Given the description of an element on the screen output the (x, y) to click on. 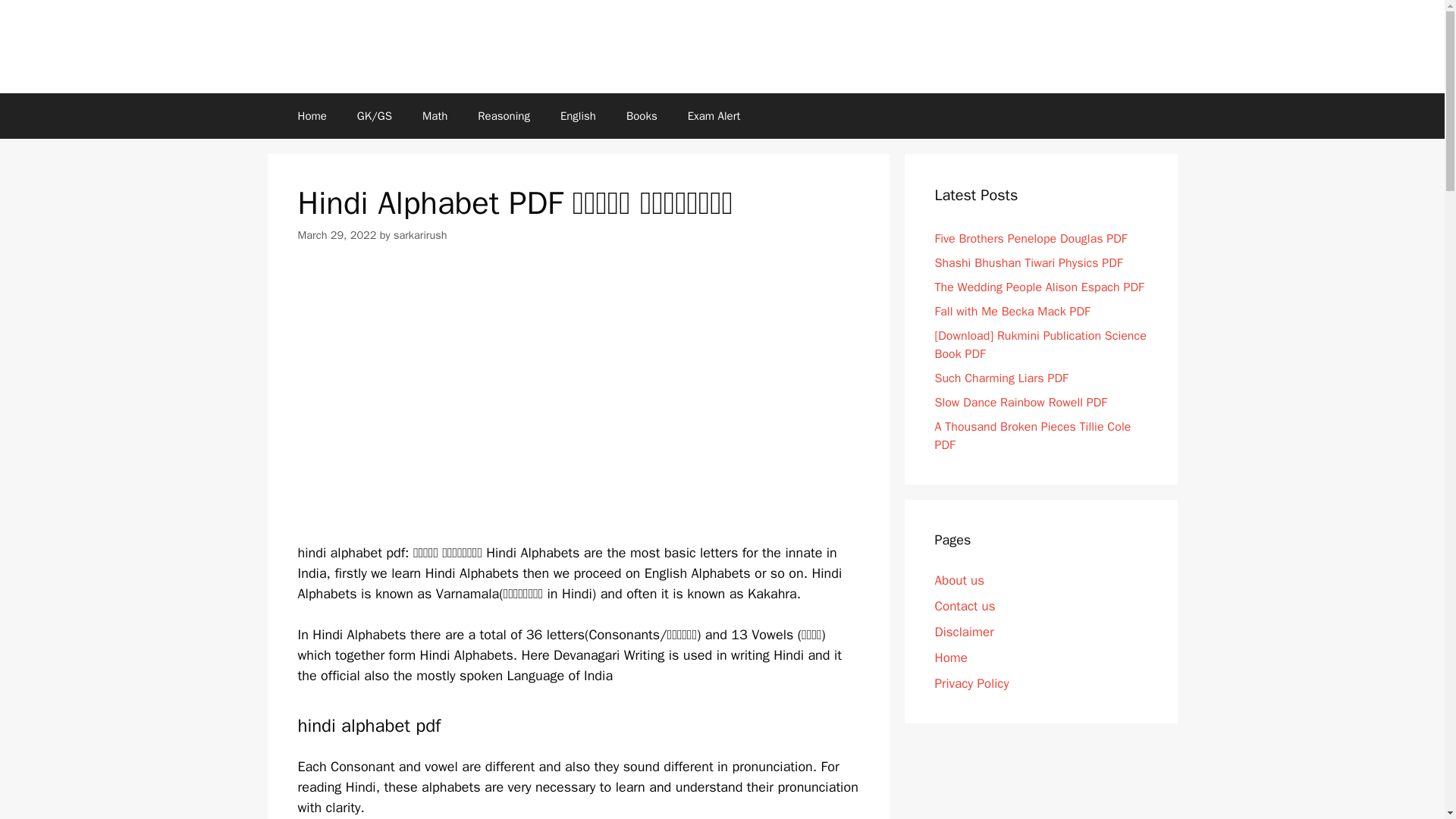
Math (435, 115)
sarkarirush (419, 234)
Books (641, 115)
Slow Dance Rainbow Rowell PDF (1020, 402)
Such Charming Liars PDF (1000, 378)
Reasoning (503, 115)
A Thousand Broken Pieces Tillie Cole PDF (1032, 435)
Exam Alert (713, 115)
Home (311, 115)
Five Brothers Penelope Douglas PDF (1030, 238)
Fall with Me Becka Mack PDF (1011, 311)
The Wedding People Alison Espach PDF (1038, 287)
Shashi Bhushan Tiwari Physics PDF (1028, 263)
View all posts by sarkarirush (419, 234)
English (577, 115)
